Given the description of an element on the screen output the (x, y) to click on. 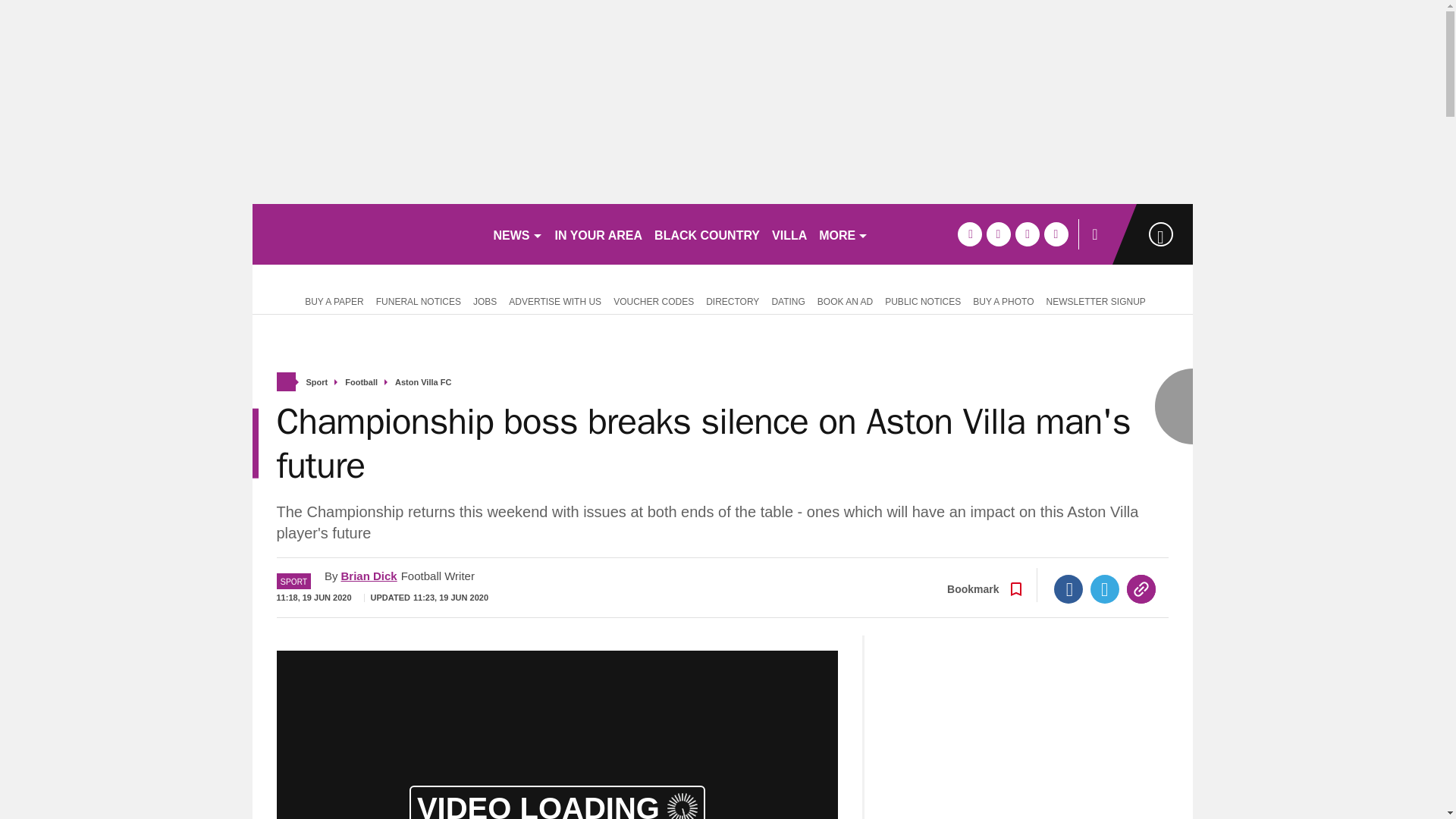
tiktok (1026, 233)
birminghammail (365, 233)
NEWS (517, 233)
Facebook (1068, 588)
instagram (1055, 233)
facebook (968, 233)
Twitter (1104, 588)
BLACK COUNTRY (706, 233)
IN YOUR AREA (598, 233)
twitter (997, 233)
MORE (843, 233)
